Given the description of an element on the screen output the (x, y) to click on. 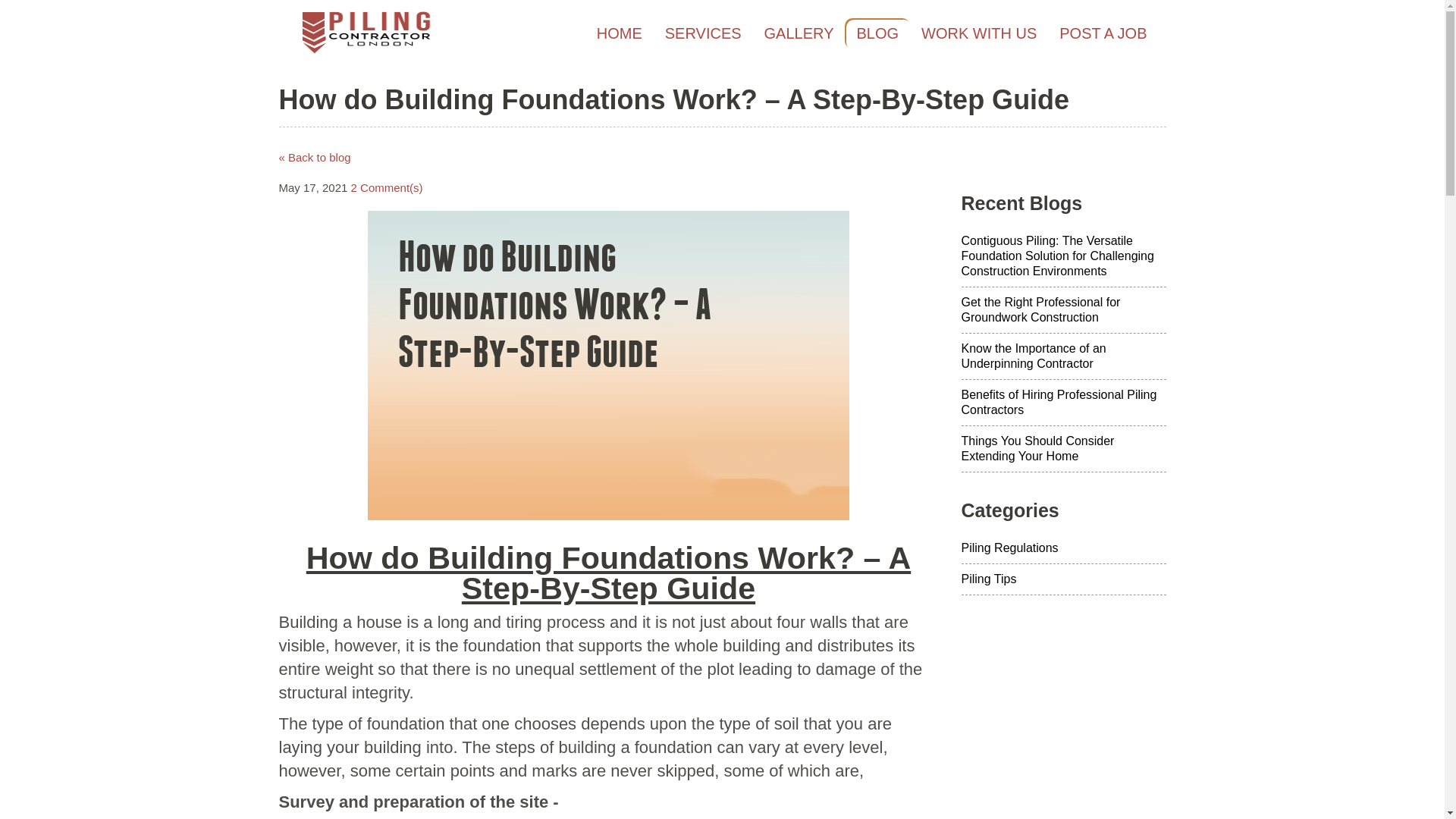
SERVICES (702, 33)
Benefits of Hiring Professional Piling Contractors (1063, 402)
Know the Importance of an Underpinning Contractor (1063, 356)
POST A JOB (1102, 33)
GALLERY (798, 33)
WORK WITH US (979, 33)
Get the Right Professional for Groundwork Construction (1063, 310)
BLOG (877, 33)
Piling Tips (1063, 579)
Piling Regulations (1063, 548)
Things You Should Consider Extending Your Home (1063, 448)
HOME (619, 33)
